Given the description of an element on the screen output the (x, y) to click on. 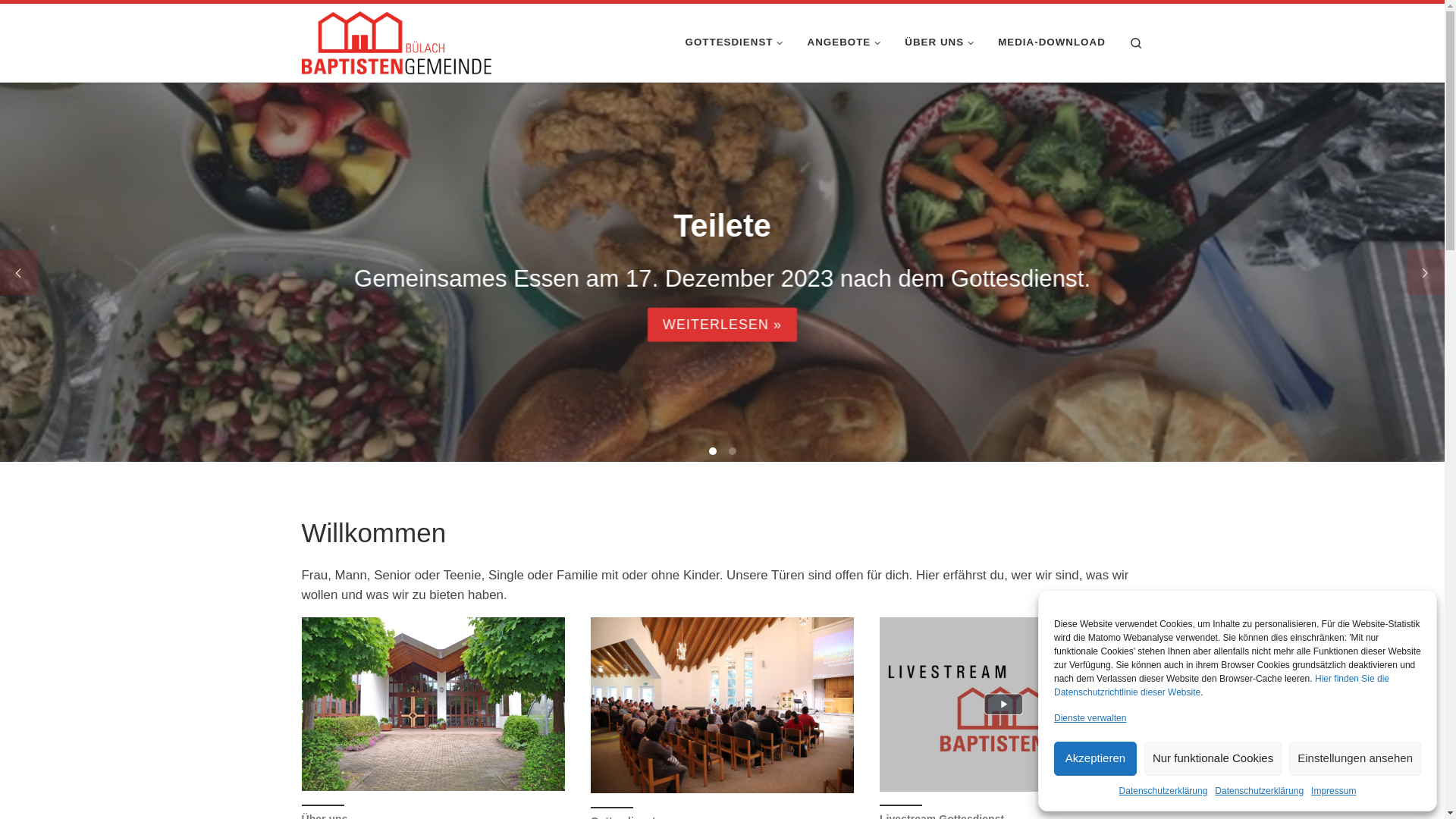
Zum Inhalt springen Element type: text (71, 20)
Search Element type: text (1135, 42)
Nur funktionale Cookies Element type: text (1212, 758)
Hier finden Sie die Datenschutzrichtlinie dieser Website Element type: text (1221, 685)
GOTTESDIENST Element type: text (736, 42)
Impressum Element type: text (1333, 791)
ANGEBOTE Element type: text (846, 42)
MEDIA-DOWNLOAD Element type: text (1051, 42)
Dienste verwalten Element type: text (1090, 718)
Einstellungen ansehen Element type: text (1355, 758)
Akzeptieren Element type: text (1095, 758)
